Given the description of an element on the screen output the (x, y) to click on. 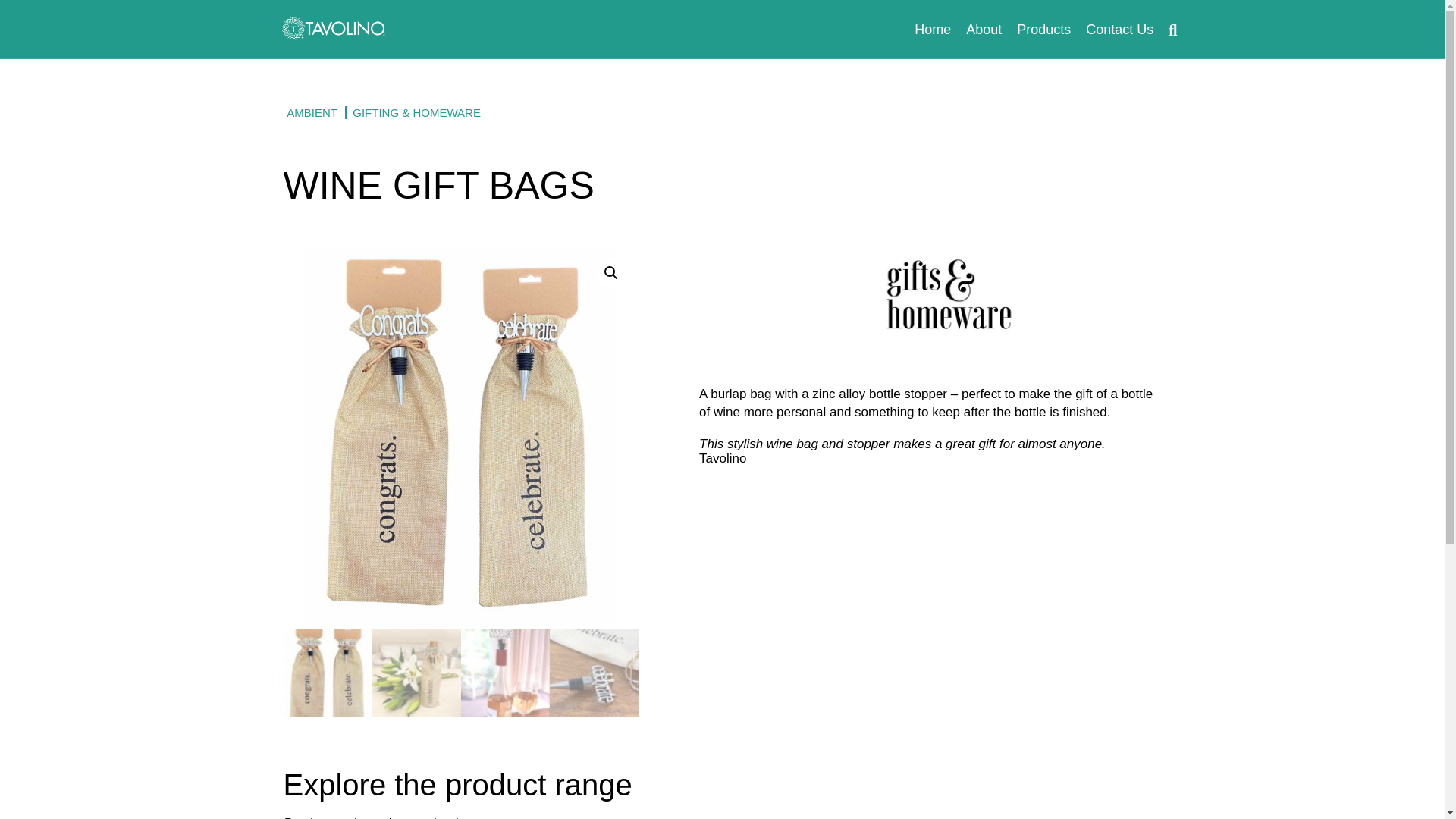
Home (932, 29)
AMBIENT (316, 112)
Contact Us (1119, 29)
Products (1043, 29)
About (983, 29)
